Given the description of an element on the screen output the (x, y) to click on. 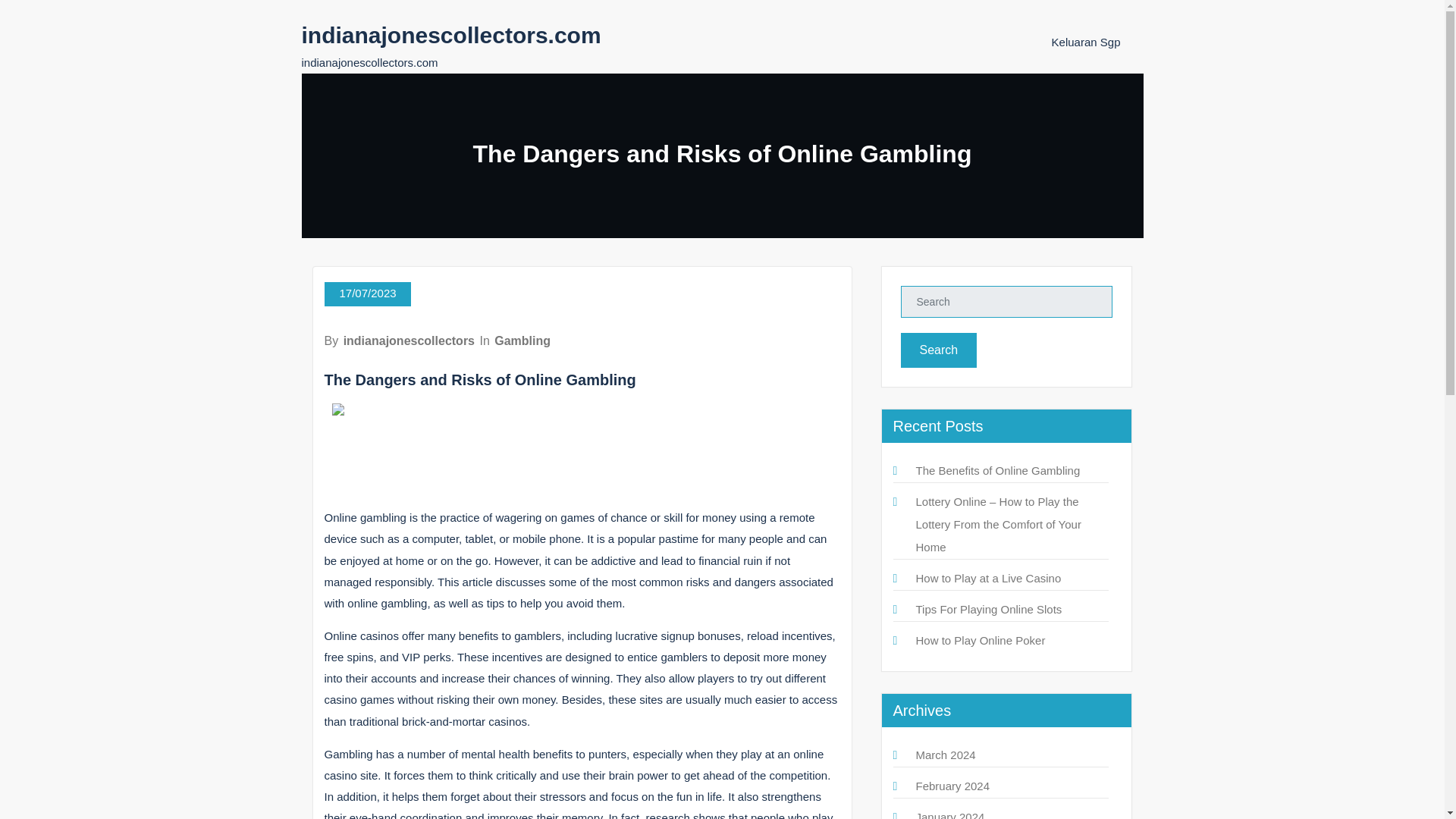
February 2024 (952, 785)
Tips For Playing Online Slots (988, 608)
indianajonescollectors.com (451, 34)
The Benefits of Online Gambling (997, 470)
March 2024 (945, 754)
indianajonescollectors (409, 340)
How to Play Online Poker (980, 640)
Keluaran Sgp (1086, 41)
January 2024 (950, 814)
Search (938, 349)
How to Play at a Live Casino (988, 577)
Gambling (522, 340)
